Given the description of an element on the screen output the (x, y) to click on. 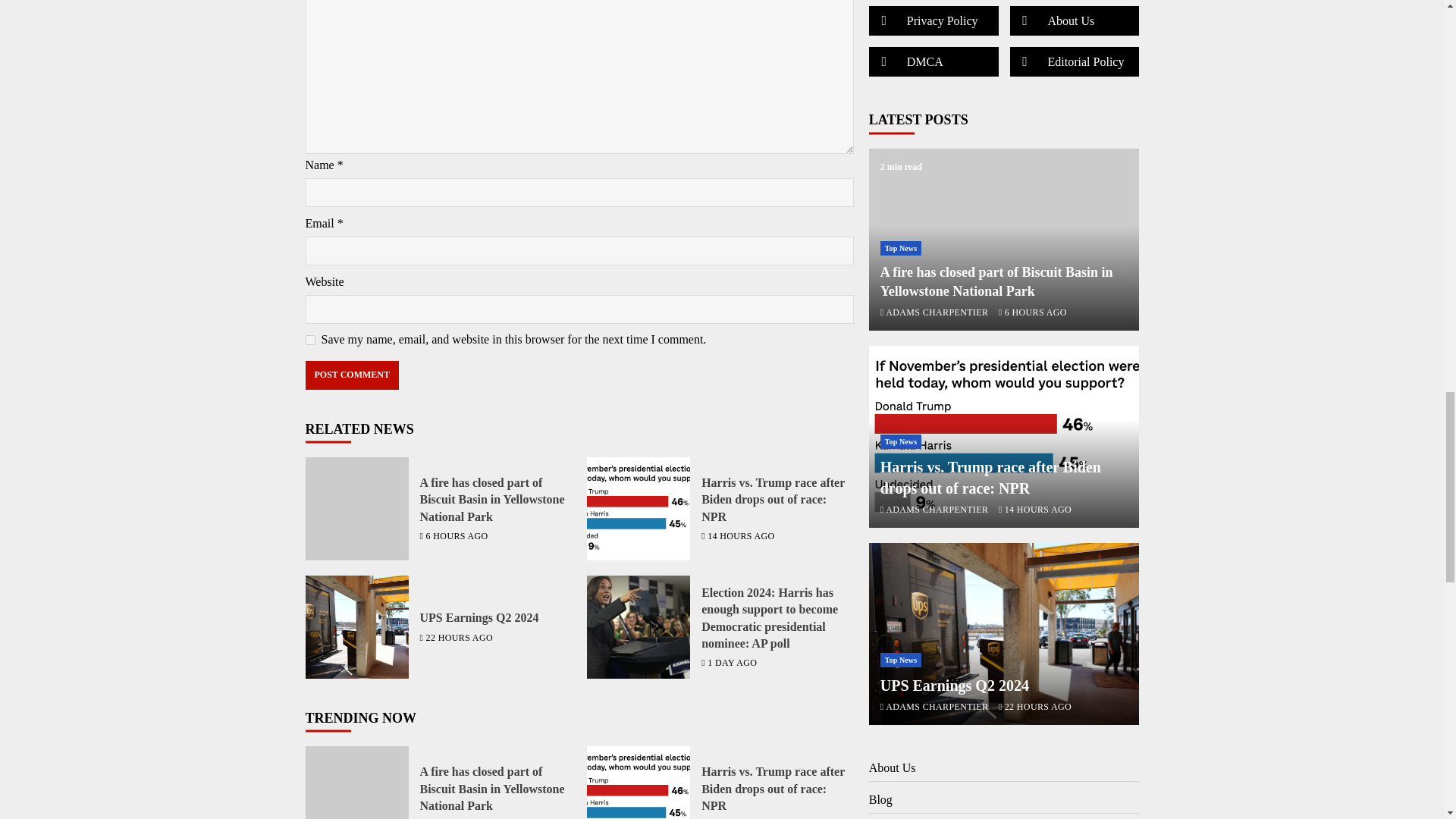
yes (309, 339)
Post Comment (350, 375)
Harris vs. Trump race after Biden drops out of race: NPR (772, 499)
Post Comment (350, 375)
Harris vs. Trump race after Biden drops out of race: NPR (638, 508)
UPS Earnings Q2 2024 (355, 626)
UPS Earnings Q2 2024 (479, 617)
Harris vs. Trump race after Biden drops out of race: NPR (638, 782)
UPS Earnings Q2 2024 (355, 626)
Harris vs. Trump race after Biden drops out of race: NPR (638, 508)
